Given the description of an element on the screen output the (x, y) to click on. 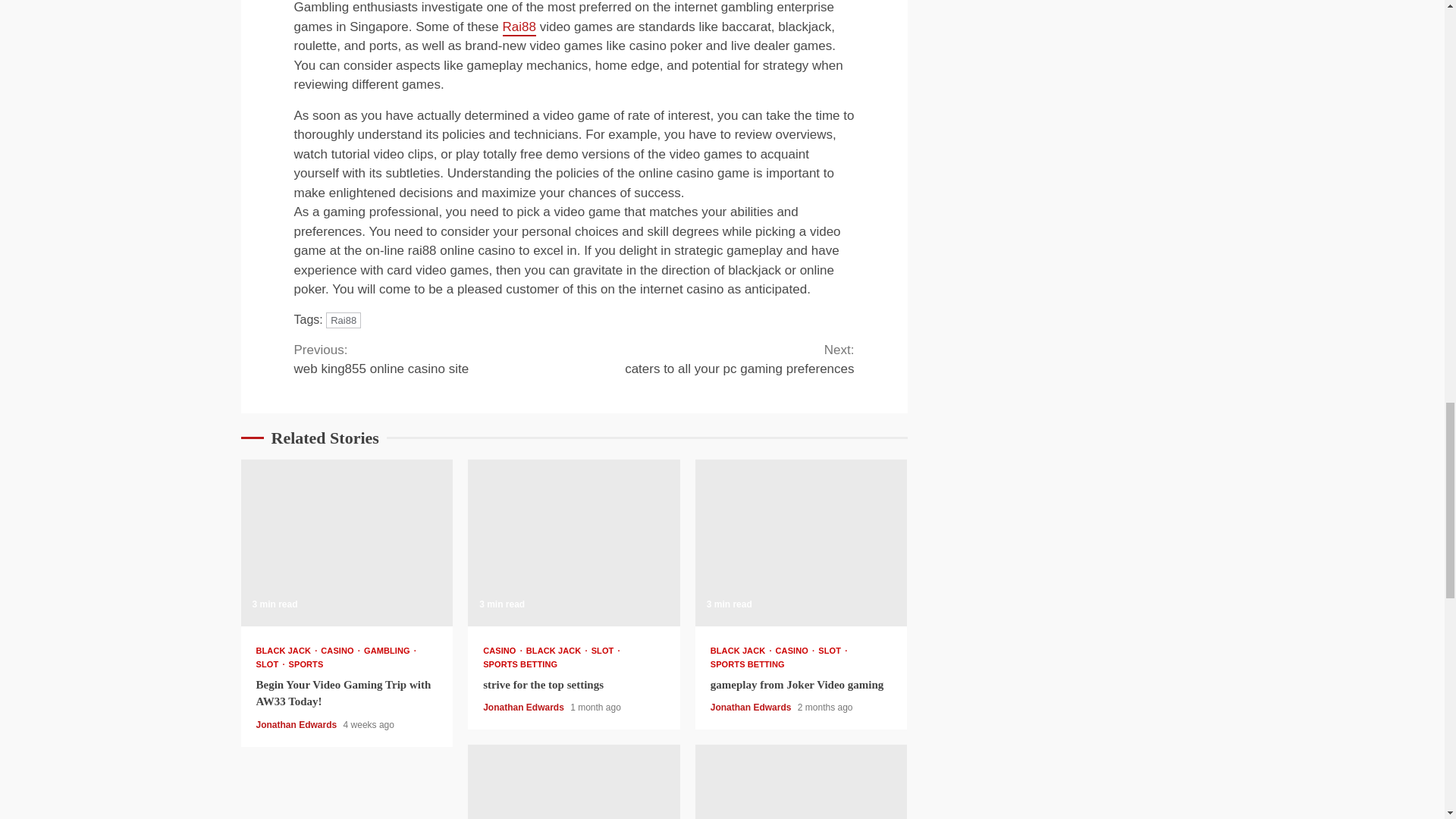
SPORTS BETTING (713, 358)
CASINO (520, 664)
strive for the top settings (502, 651)
GAMBLING (573, 542)
SLOT (390, 651)
BLACK JACK (434, 358)
Rai88 (270, 664)
CASINO (556, 651)
